Given the description of an element on the screen output the (x, y) to click on. 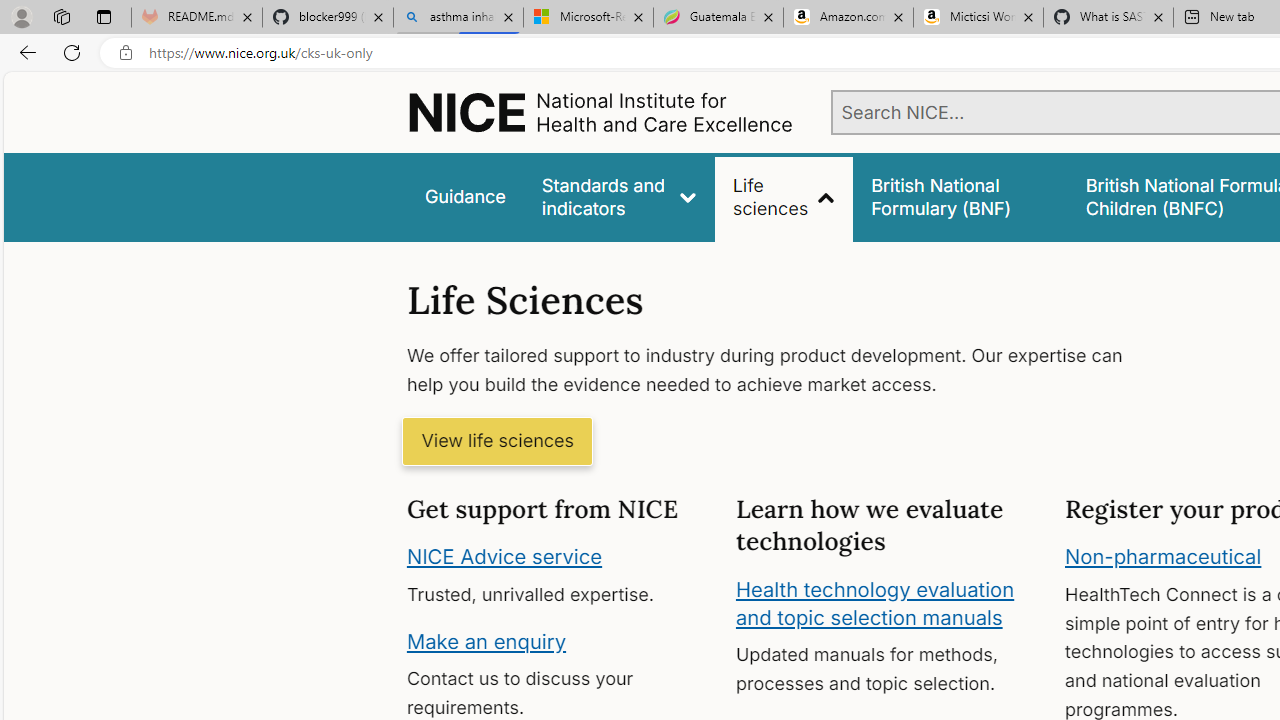
Guidance (464, 196)
false (959, 196)
Life sciences (783, 196)
Make an enquiry (486, 640)
asthma inhaler - Search (458, 17)
NICE Advice service (503, 557)
Guidance (464, 196)
